Given the description of an element on the screen output the (x, y) to click on. 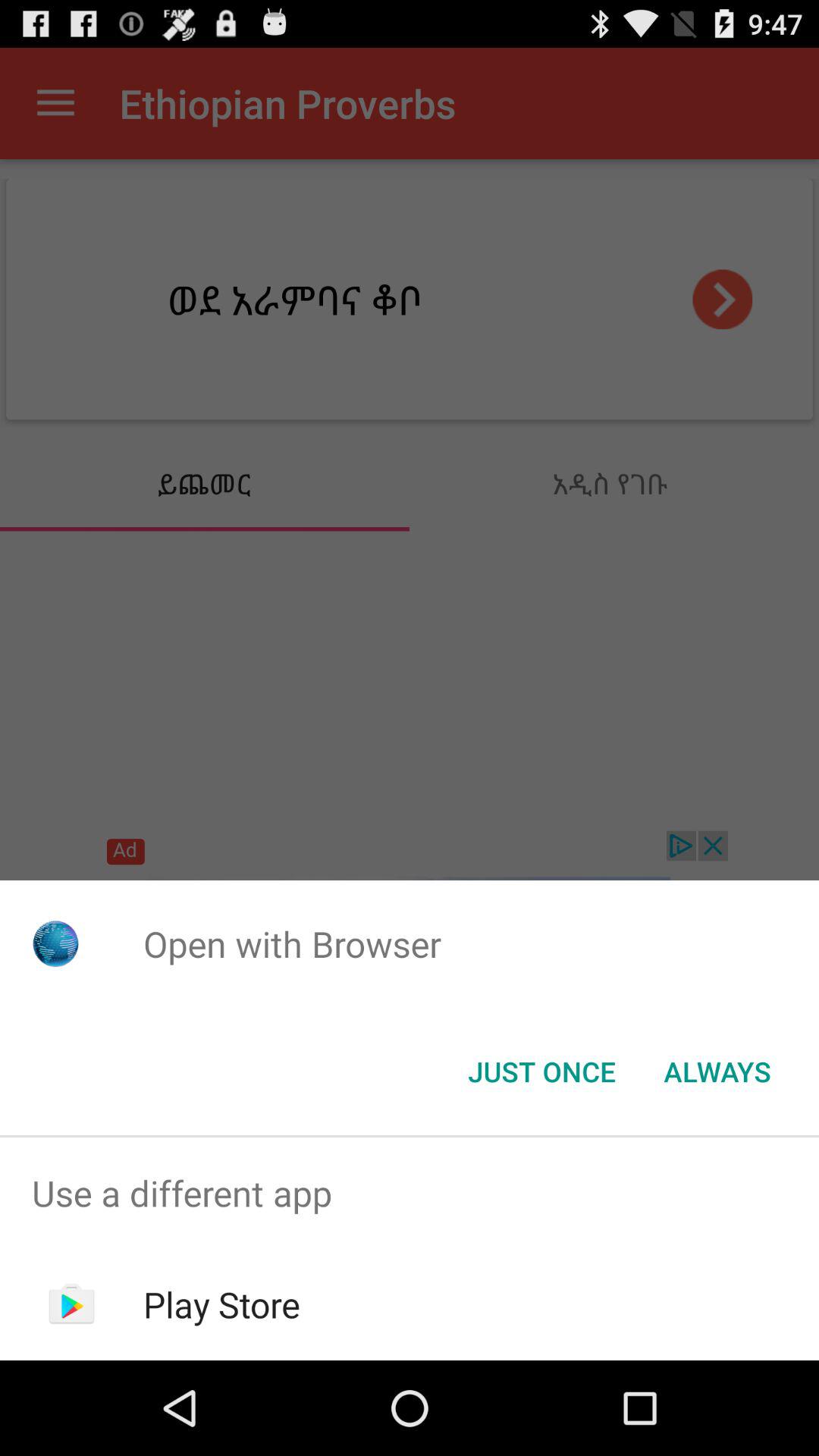
jump until the just once (541, 1071)
